Given the description of an element on the screen output the (x, y) to click on. 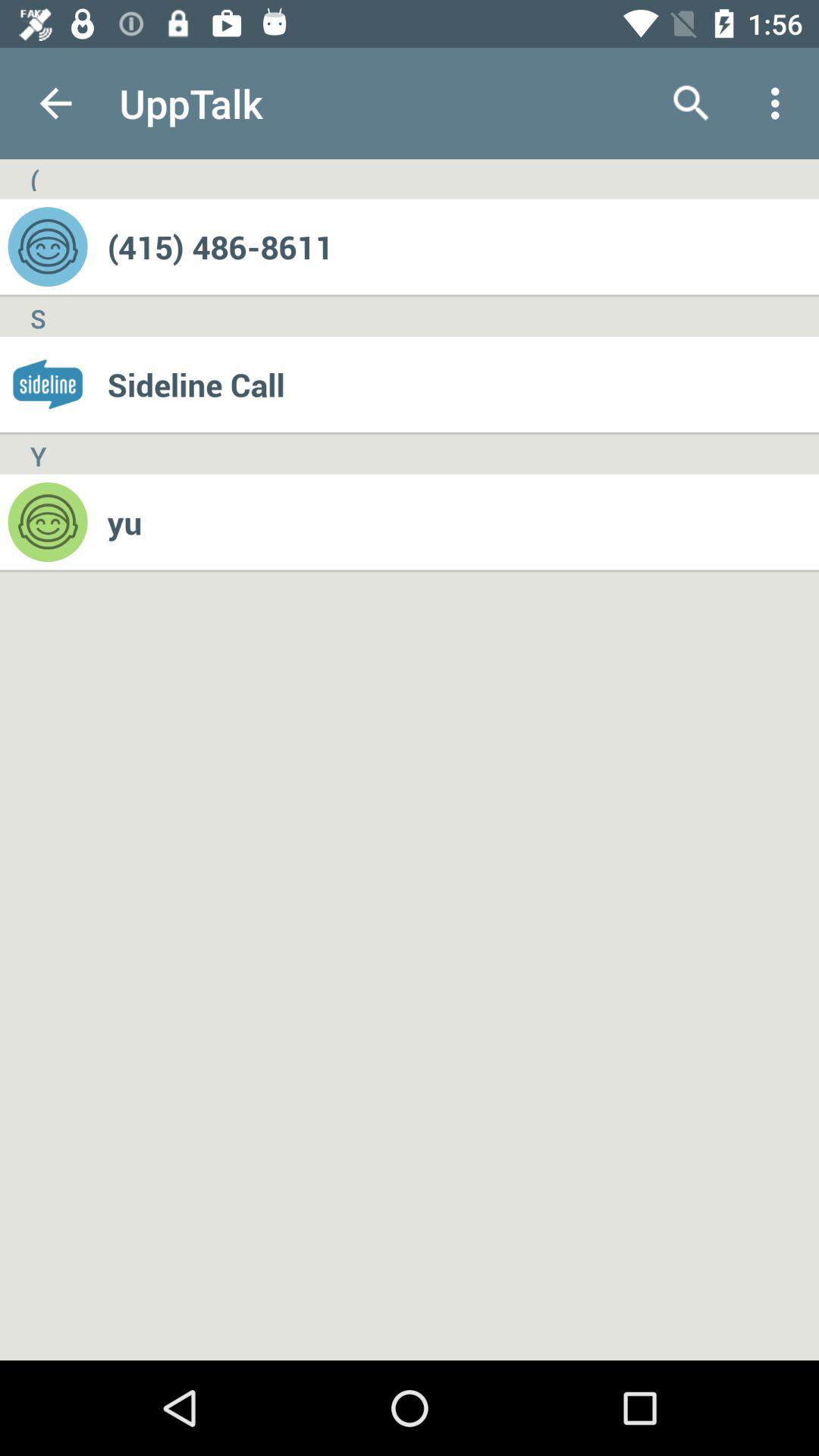
flip to (415) 486-8611 icon (463, 246)
